Given the description of an element on the screen output the (x, y) to click on. 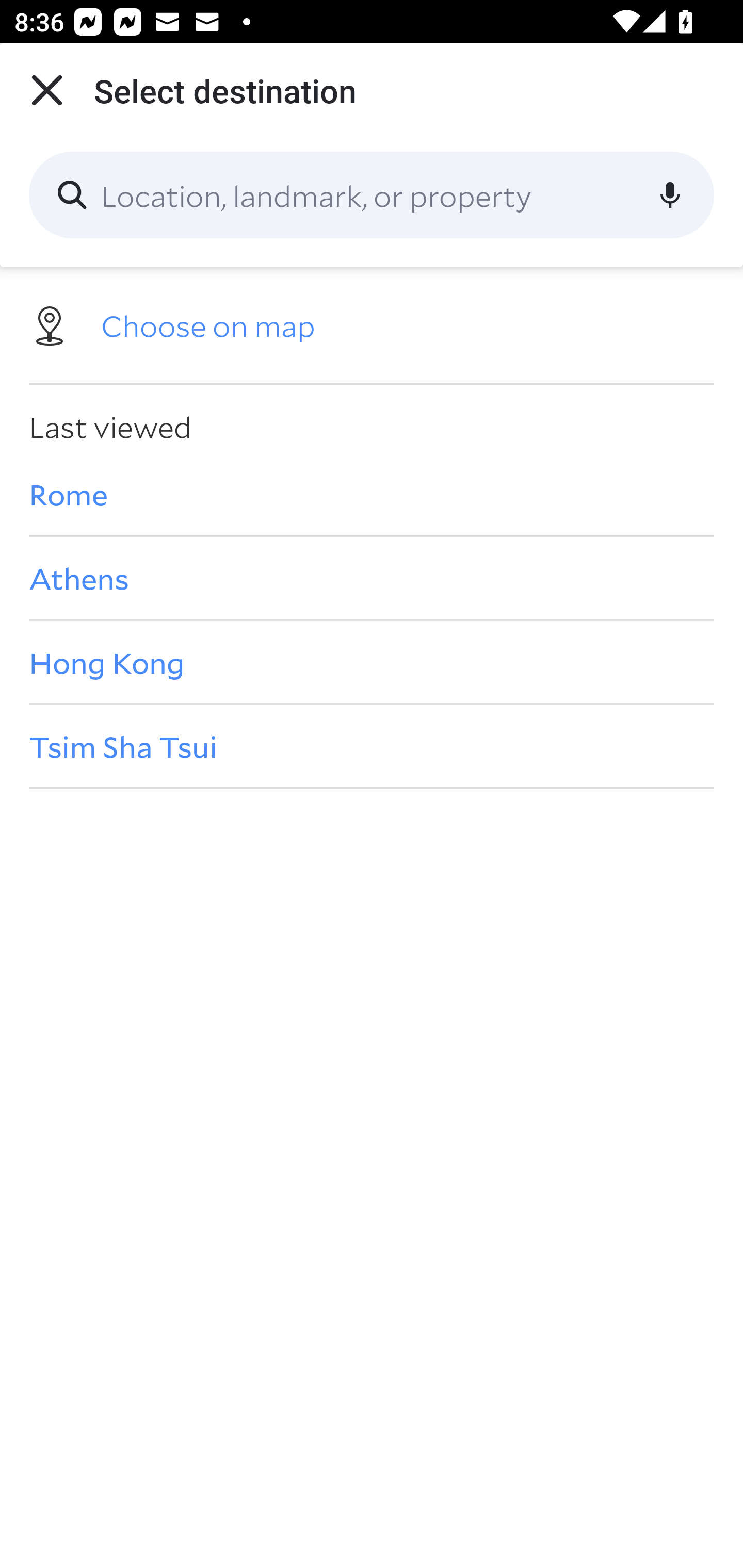
Location, landmark, or property (371, 195)
Choose on map (371, 324)
Rome (371, 493)
Athens (371, 577)
Hong Kong (371, 661)
Tsim Sha Tsui (371, 746)
